Given the description of an element on the screen output the (x, y) to click on. 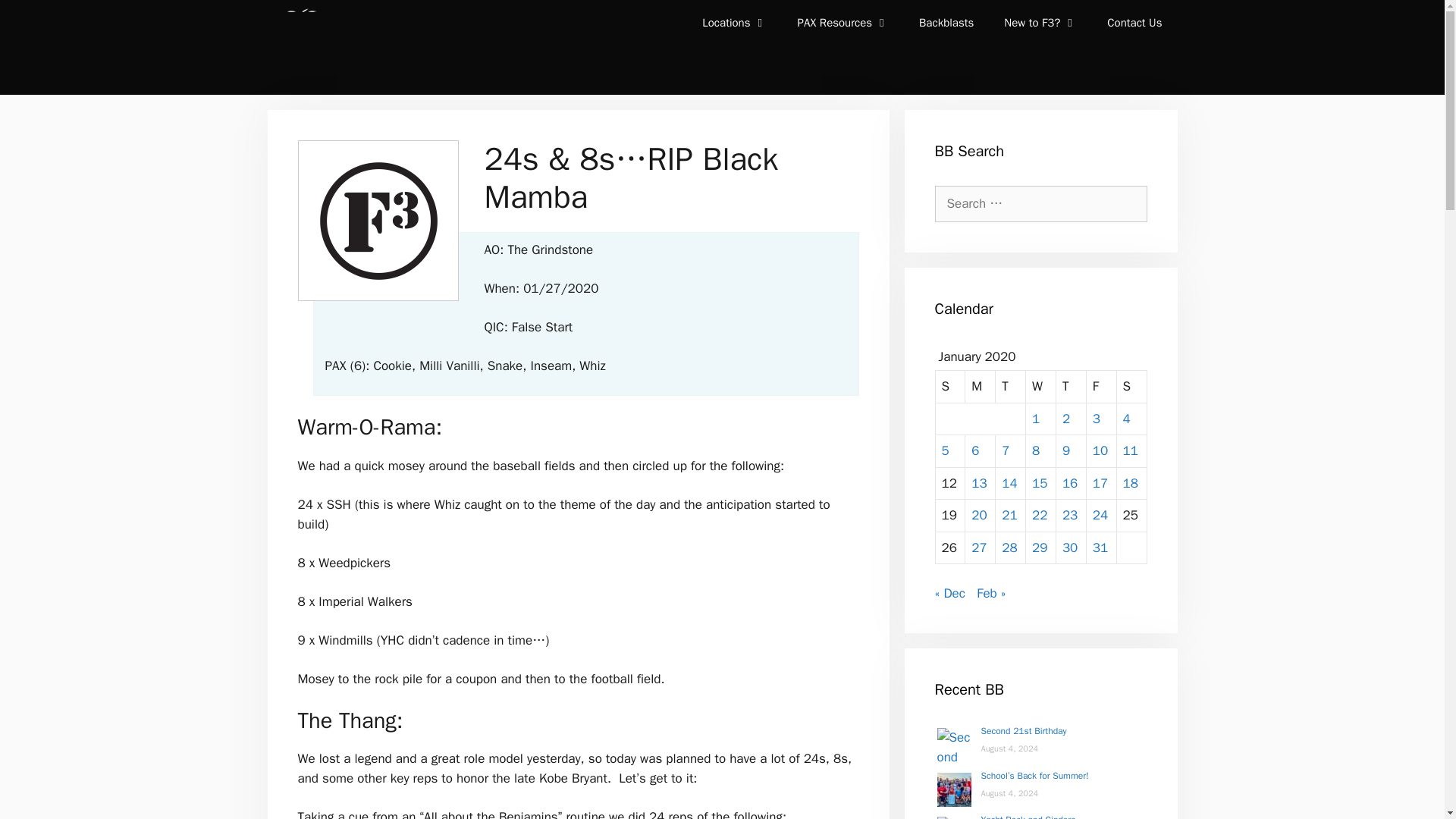
Contact Us (1134, 22)
11 (1130, 450)
Search for: (1040, 203)
F3Alpha (302, 47)
Sunday (951, 387)
New to F3? (1040, 22)
Monday (980, 387)
Search (33, 15)
Friday (1101, 387)
PAX Resources (843, 22)
Thursday (1071, 387)
Wednesday (1041, 387)
Saturday (1131, 387)
Locations (734, 22)
Tuesday (1010, 387)
